Given the description of an element on the screen output the (x, y) to click on. 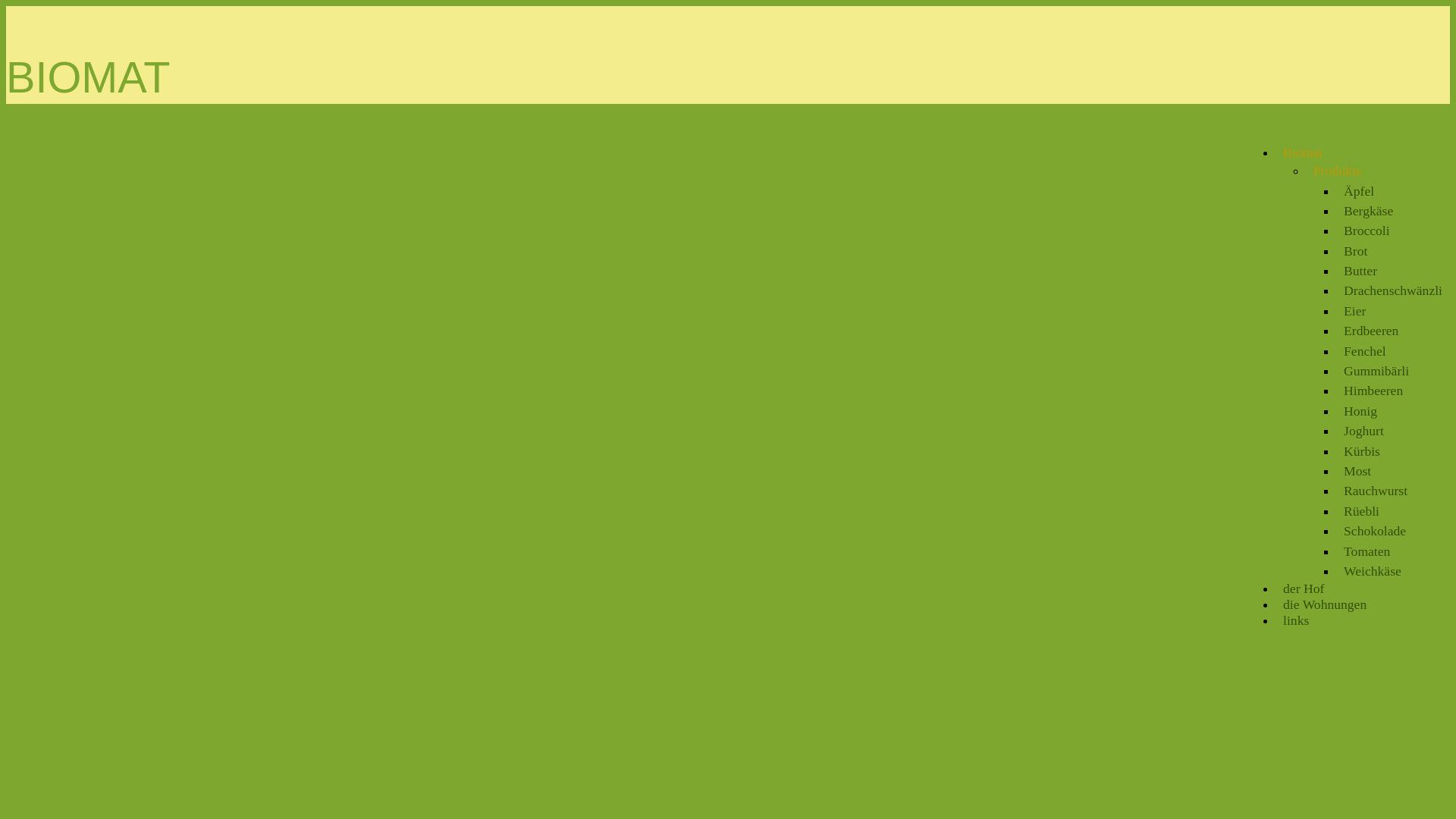
Eier Element type: text (1354, 310)
Himbeeren Element type: text (1373, 390)
Brot Element type: text (1355, 250)
Produkte Element type: text (1337, 170)
Tomaten Element type: text (1366, 551)
Rauchwurst Element type: text (1375, 490)
Schokolade Element type: text (1374, 530)
Broccoli Element type: text (1366, 230)
links Element type: text (1295, 620)
der Hof Element type: text (1303, 588)
Honig Element type: text (1360, 410)
Biomat Element type: text (1302, 152)
BIOMAT Element type: text (88, 77)
Erdbeeren Element type: text (1370, 330)
Butter Element type: text (1360, 270)
Fenchel Element type: text (1364, 350)
Joghurt Element type: text (1363, 430)
die Wohnungen Element type: text (1324, 604)
Most Element type: text (1357, 470)
